Given the description of an element on the screen output the (x, y) to click on. 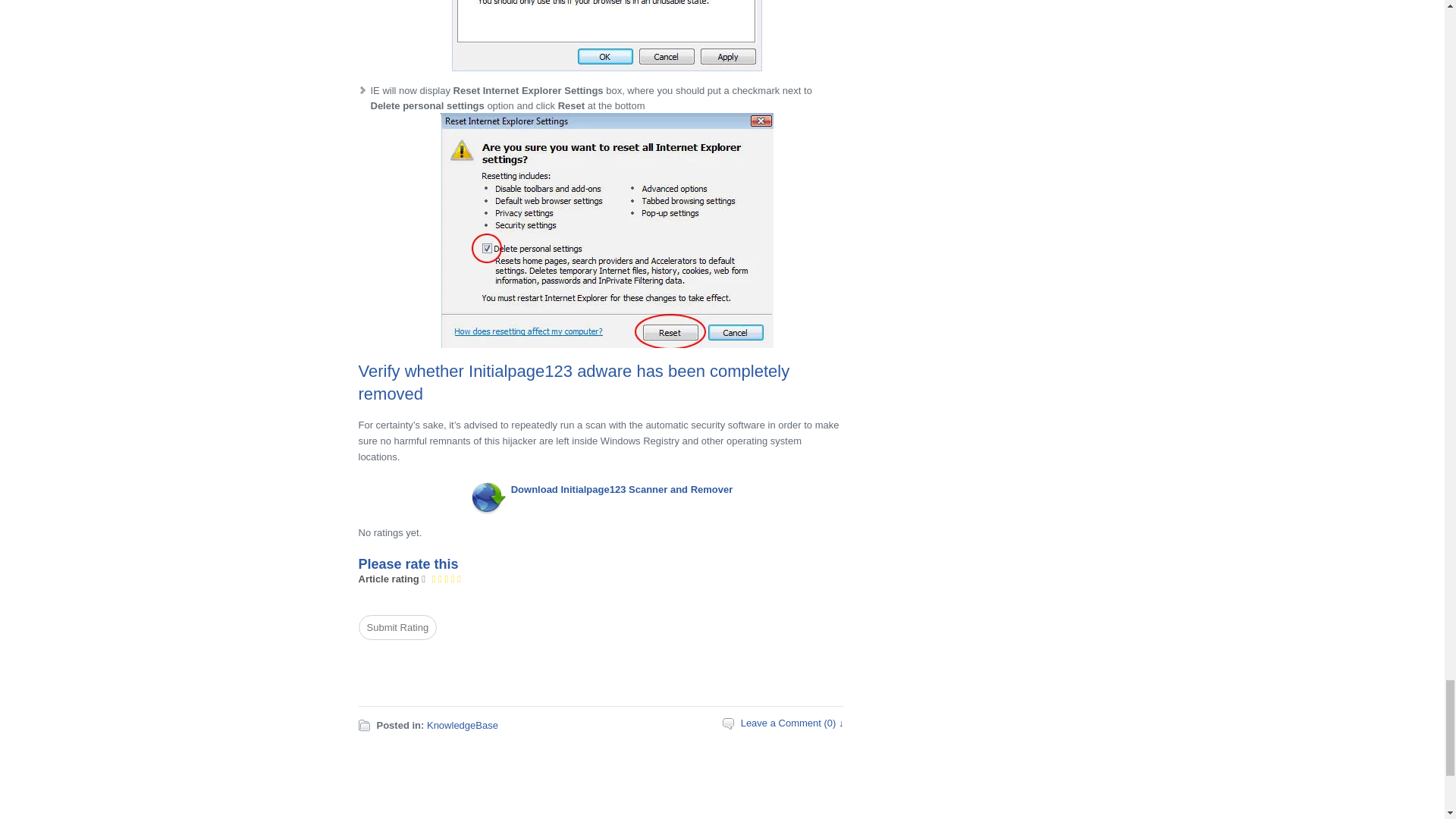
KnowledgeBase (461, 725)
Download Initialpage123 Scanner and Remover (622, 489)
Submit Rating (397, 627)
Submit Rating (397, 627)
